Given the description of an element on the screen output the (x, y) to click on. 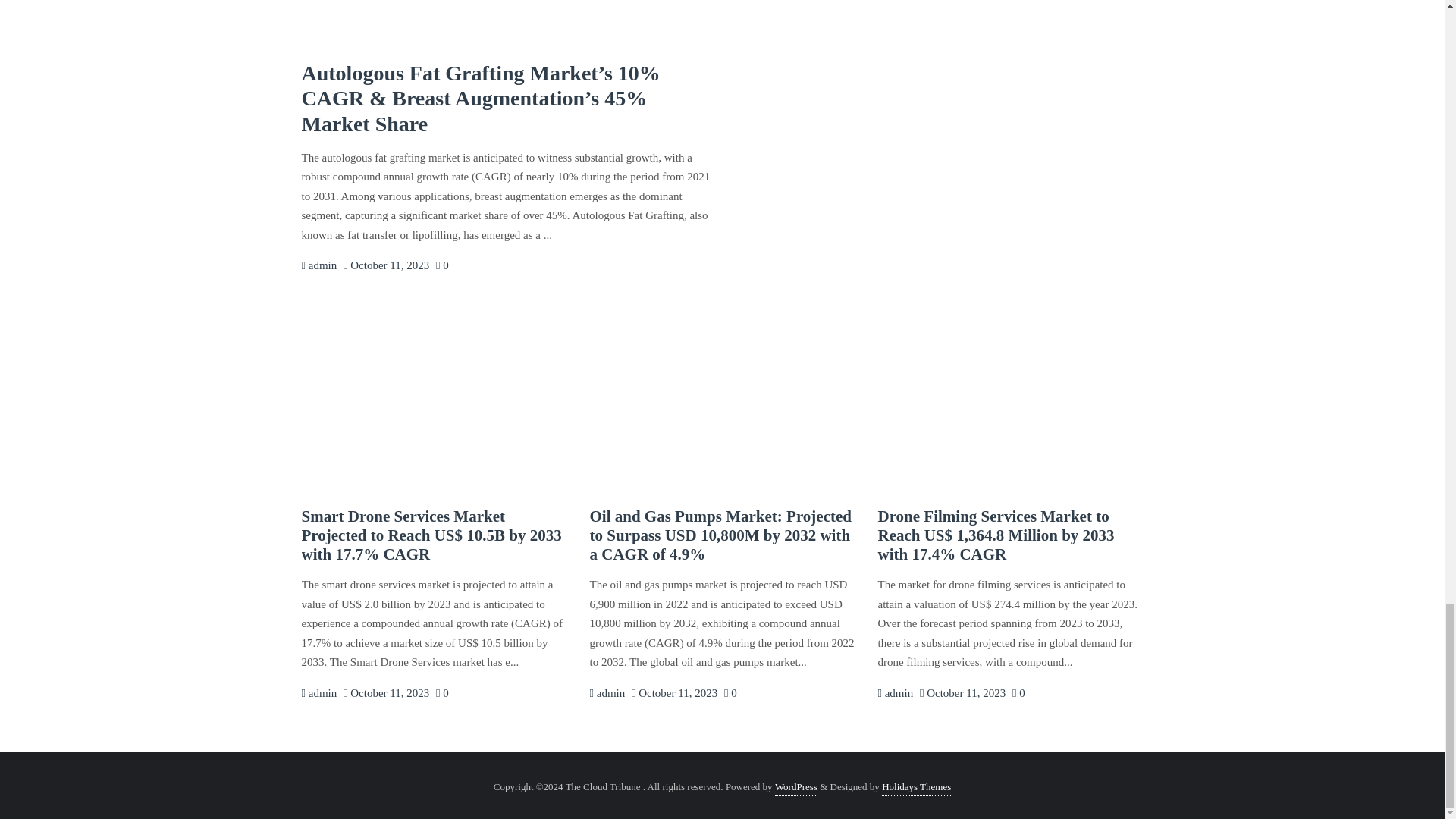
October 11, 2023 (963, 693)
0 (441, 693)
admin (319, 265)
October 11, 2023 (386, 265)
admin (894, 693)
October 11, 2023 (674, 693)
October 11, 2023 (386, 693)
0 (441, 265)
admin (606, 693)
admin (606, 693)
